Given the description of an element on the screen output the (x, y) to click on. 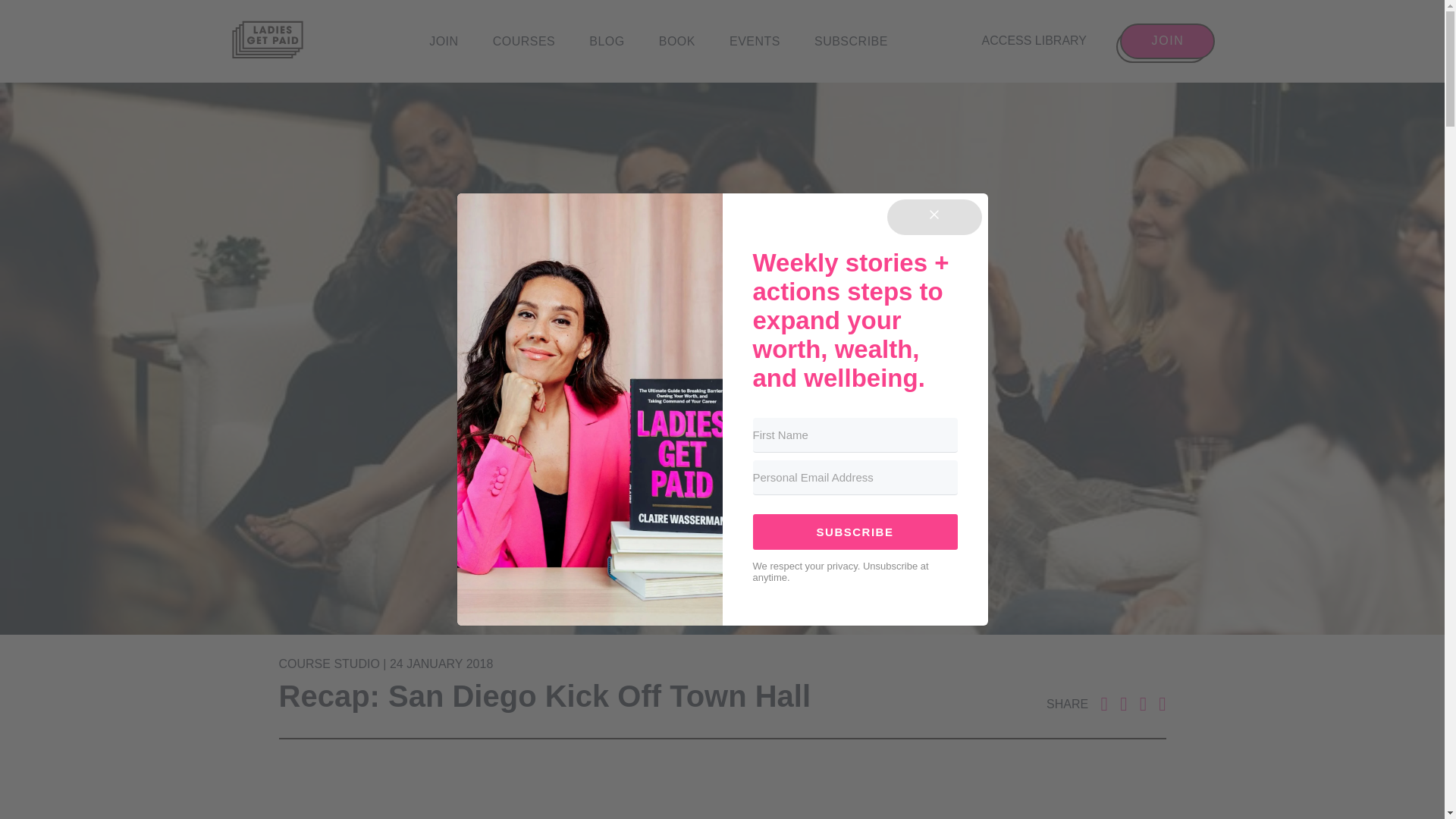
JOIN (443, 41)
BOOK (677, 41)
EVENTS (754, 41)
SUBSCRIBE (850, 41)
JOIN (1166, 40)
BLOG (606, 41)
COURSES (524, 41)
Advertisement (721, 795)
ACCESS LIBRARY (1033, 40)
